Given the description of an element on the screen output the (x, y) to click on. 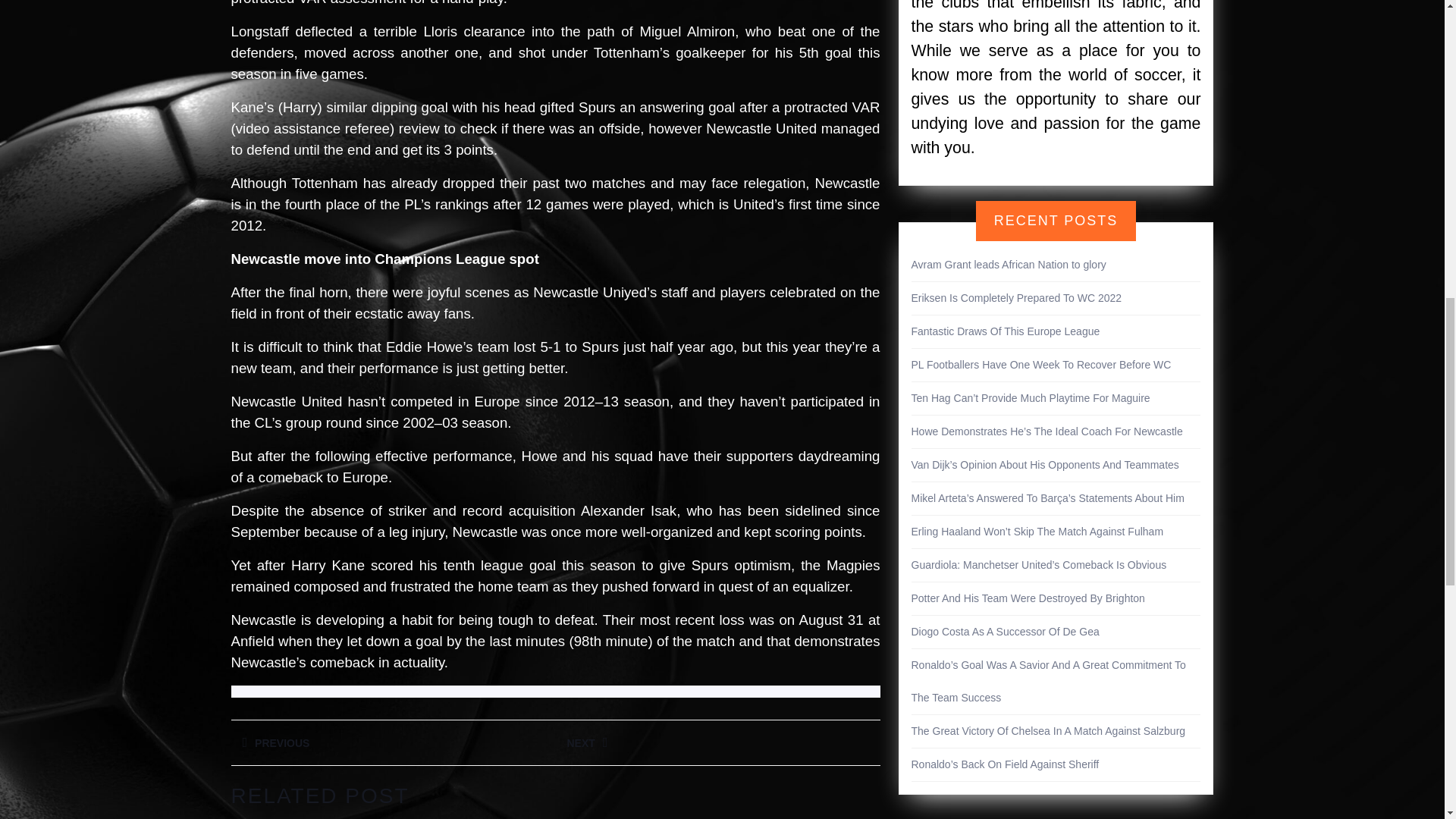
Avram Grant leads African Nation to glory (1008, 264)
Fantastic Draws Of This Europe League (1005, 331)
Eriksen Is Completely Prepared To WC 2022 (716, 742)
The Great Victory Of Chelsea In A Match Against Salzburg (392, 742)
PL Footballers Have One Week To Recover Before WC (1016, 297)
Diogo Costa As A Successor Of De Gea (1048, 730)
Potter And His Team Were Destroyed By Brighton (1041, 364)
